Given the description of an element on the screen output the (x, y) to click on. 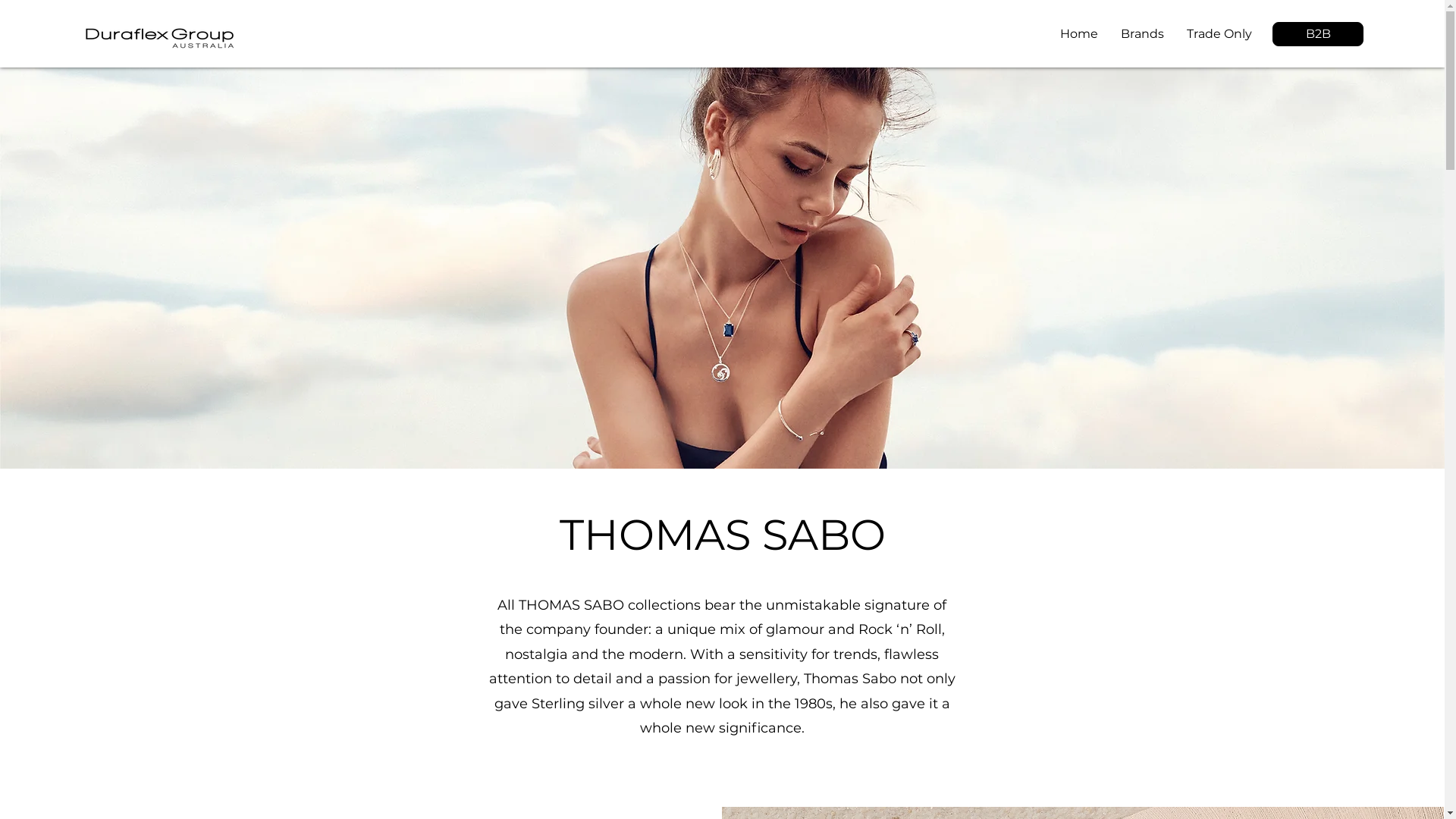
Home Element type: text (1078, 34)
B2B Element type: text (1317, 33)
Trade Only Element type: text (1219, 34)
